Given the description of an element on the screen output the (x, y) to click on. 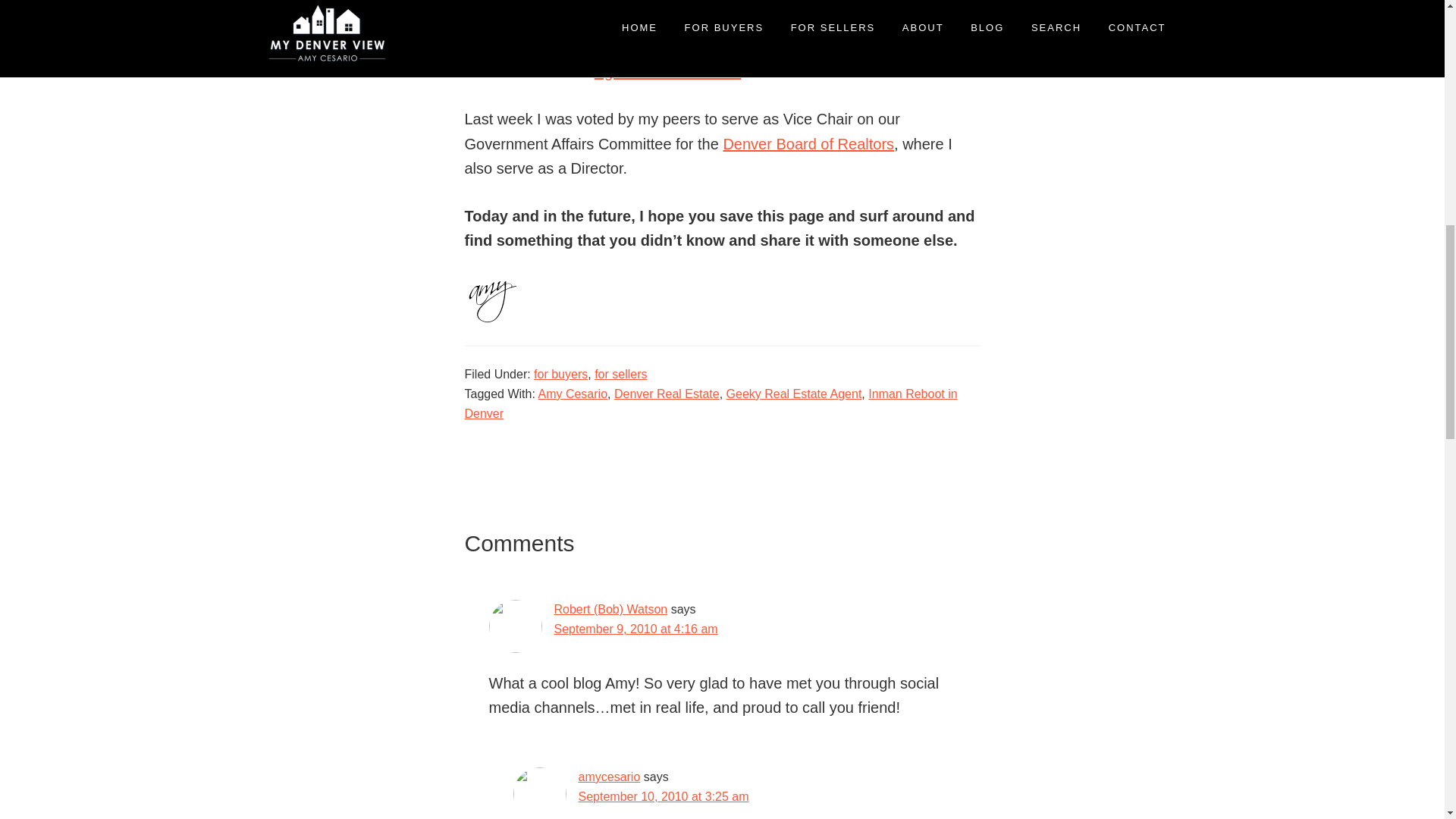
Agent ReBoot Denver (667, 71)
for sellers (620, 373)
Amy Cesario (572, 393)
Geeky Real Estate Agent (793, 393)
for buyers (561, 373)
Denver Board of Realtors (807, 143)
Denver Real Estate (666, 393)
